Given the description of an element on the screen output the (x, y) to click on. 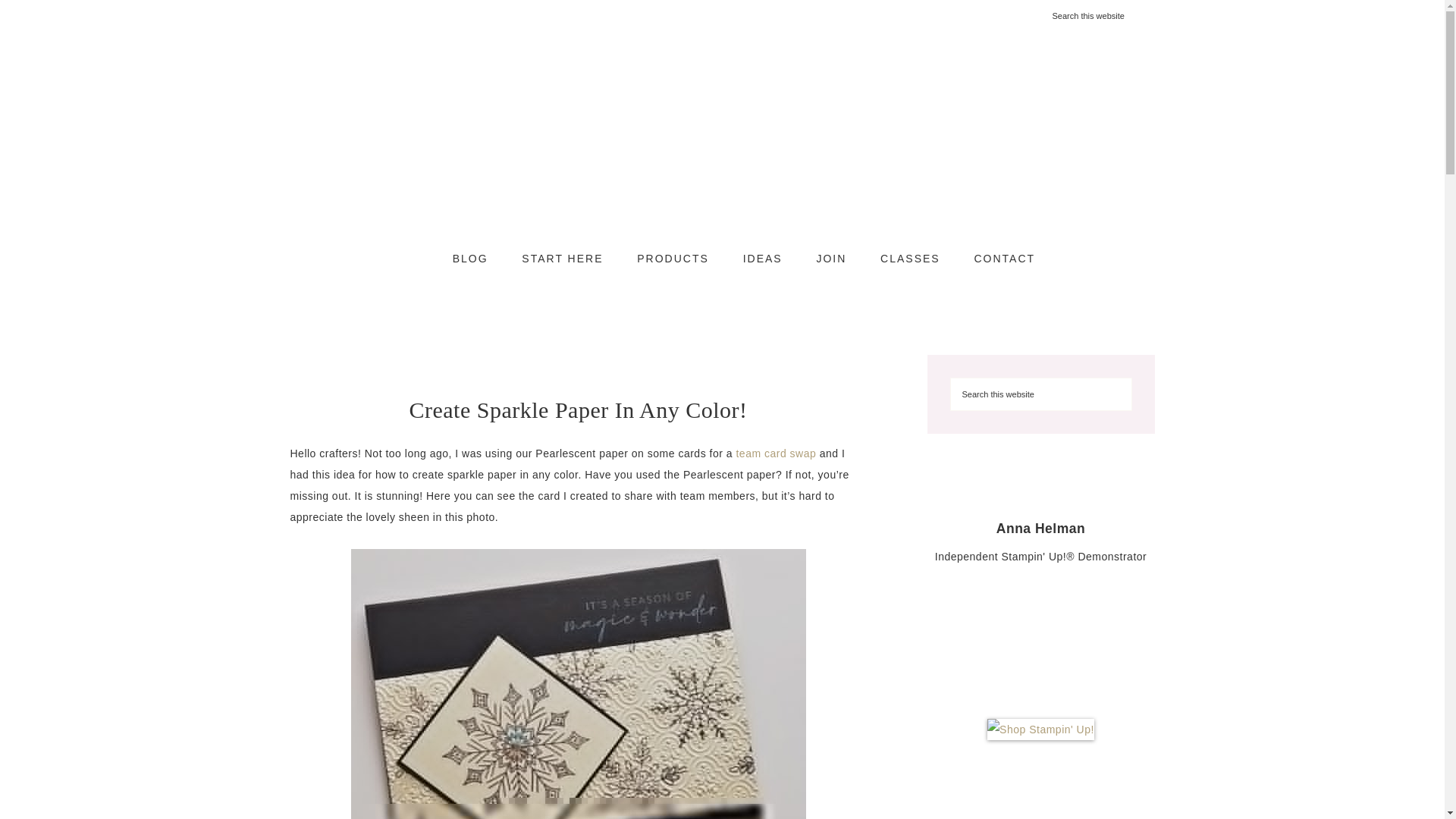
HANDMAKE WITH LOVE (722, 144)
BLOG (470, 258)
PRODUCTS (672, 258)
START HERE (561, 258)
IDEAS (762, 258)
